Given the description of an element on the screen output the (x, y) to click on. 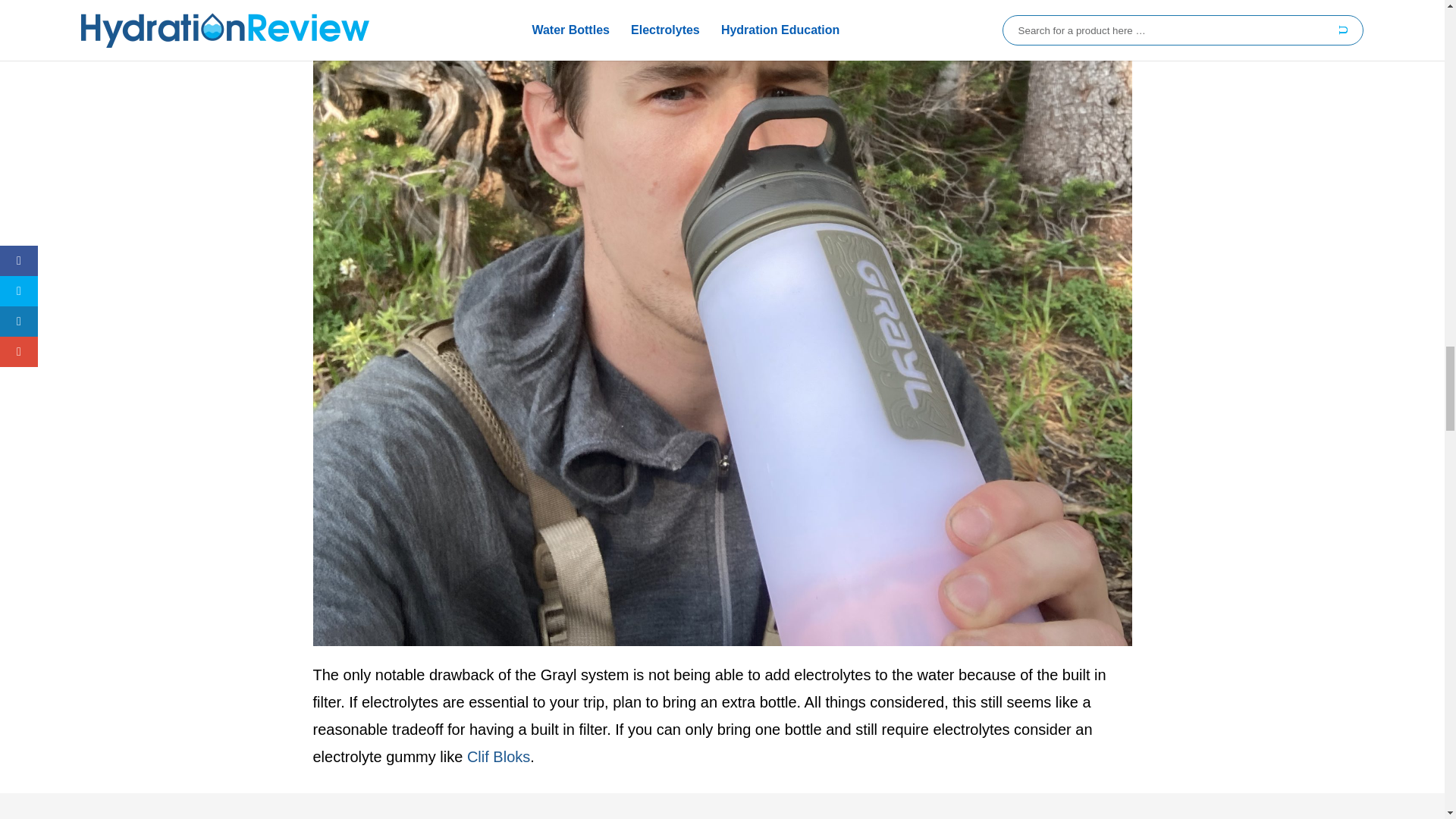
Clif Bloks (498, 756)
